Given the description of an element on the screen output the (x, y) to click on. 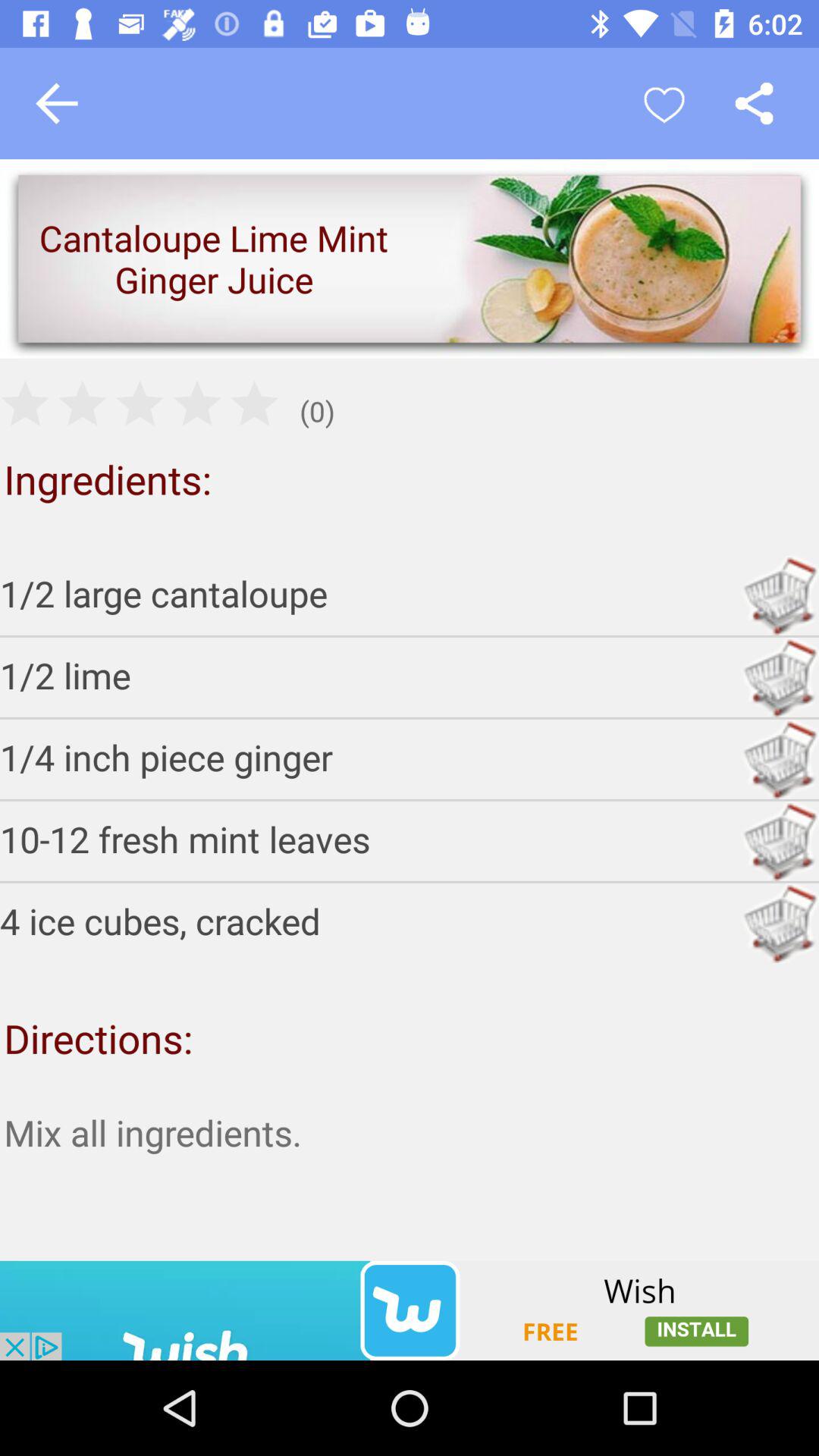
advertisement (409, 1310)
